Given the description of an element on the screen output the (x, y) to click on. 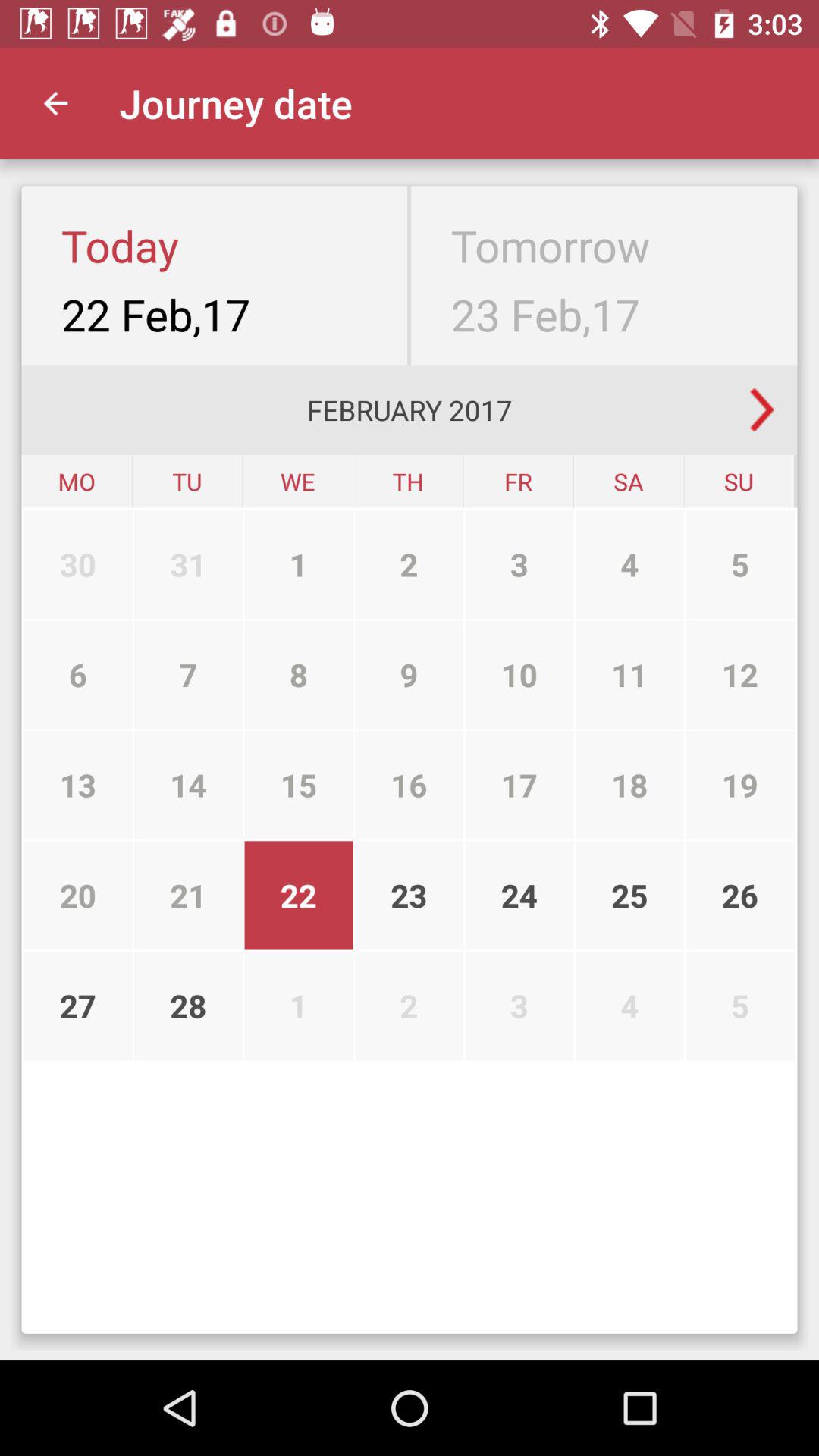
launch icon above today item (55, 103)
